Given the description of an element on the screen output the (x, y) to click on. 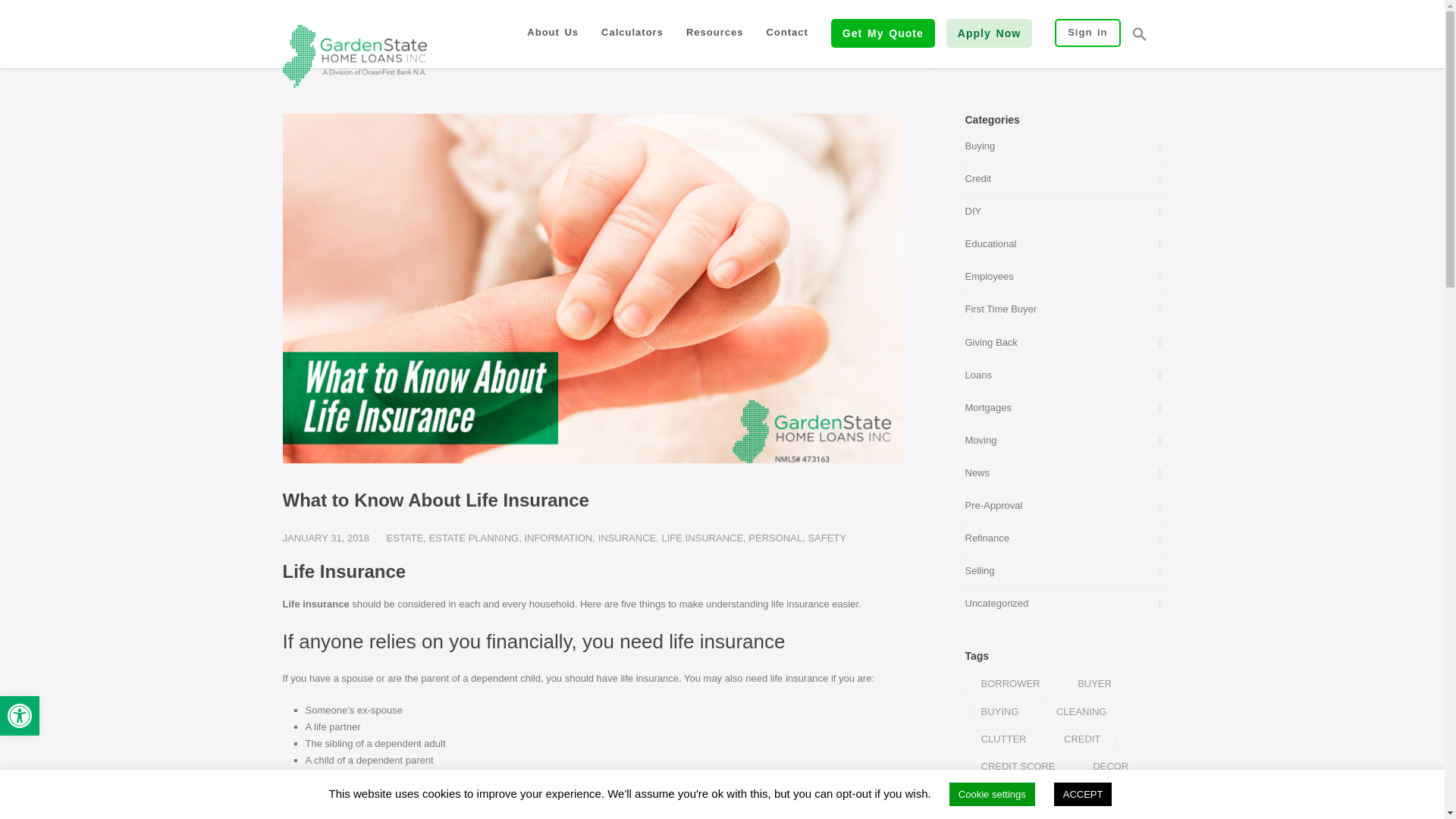
Accessibility Tools (19, 715)
Sign in (1086, 32)
Contact (786, 32)
Calculators (632, 32)
Accessibility Tools (19, 715)
Permalink to What to Know About Life Insurance (435, 499)
Resources (713, 32)
Get My Quote (882, 32)
